Given the description of an element on the screen output the (x, y) to click on. 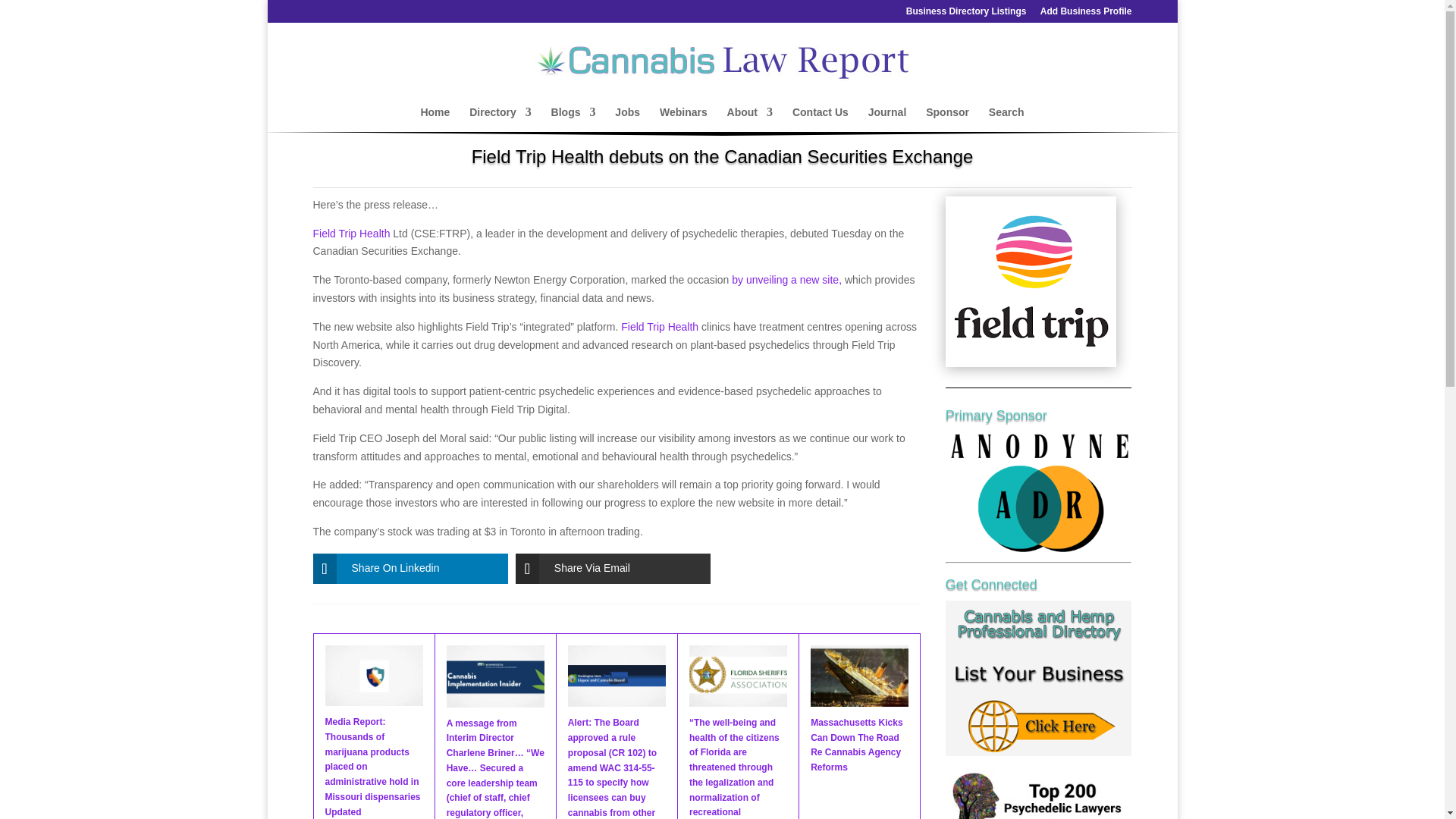
Directory (499, 119)
download (1030, 281)
Home (434, 119)
Add Business Profile (1086, 14)
Blogs (573, 119)
Business Directory Listings (965, 14)
